Given the description of an element on the screen output the (x, y) to click on. 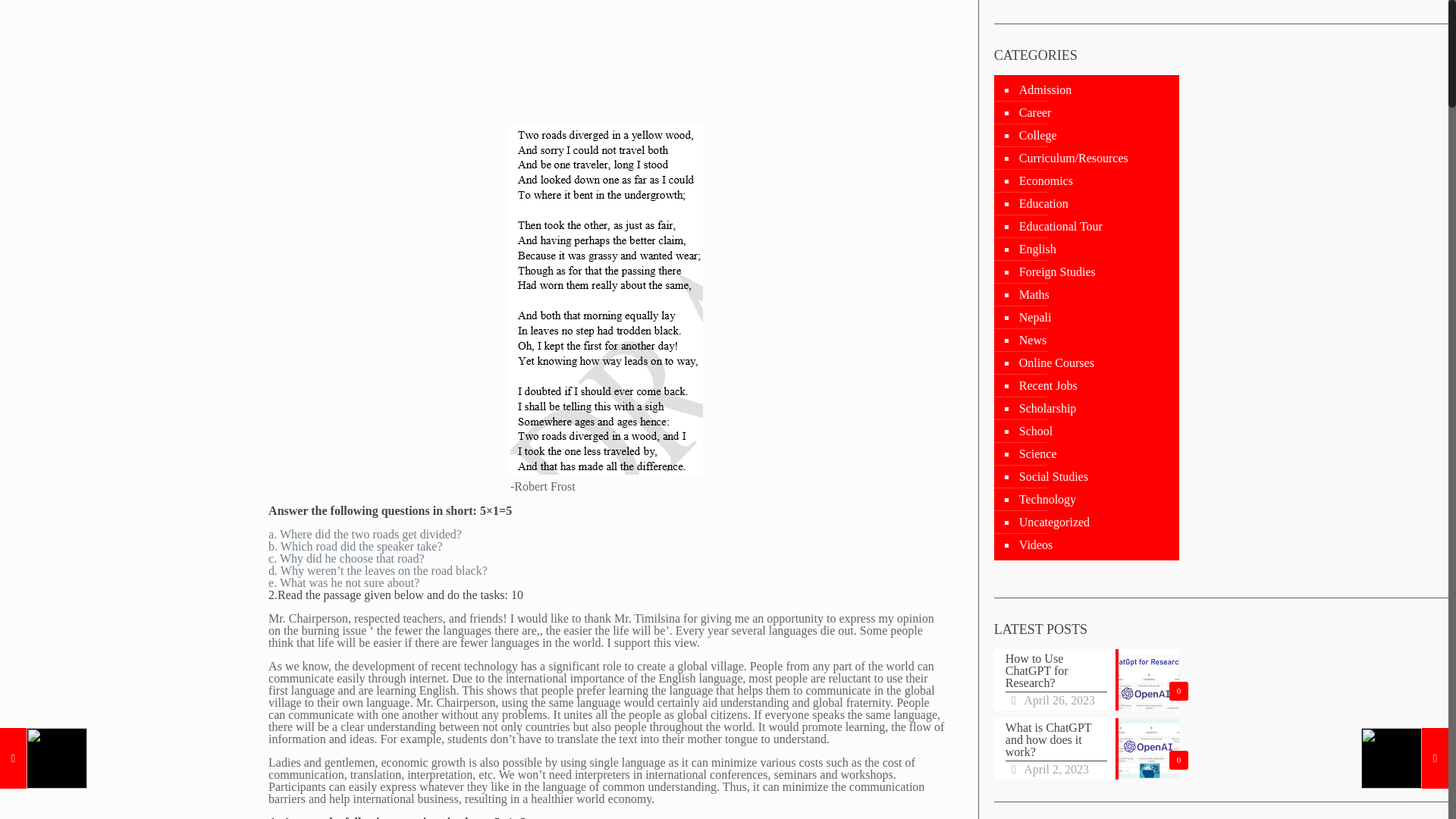
Advertisement (609, 59)
